Given the description of an element on the screen output the (x, y) to click on. 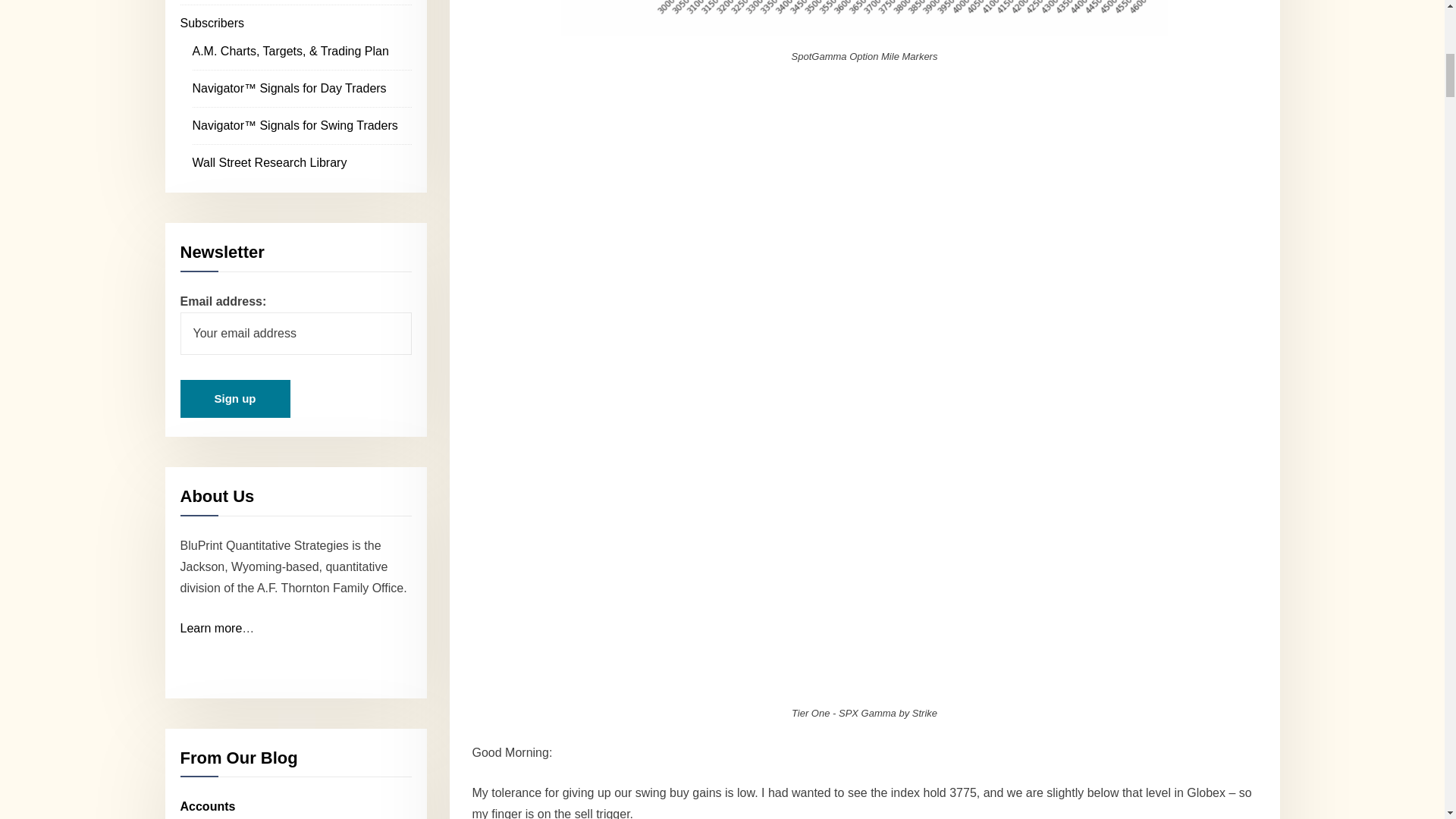
Learn more (211, 627)
Sign up (234, 398)
Wall Street Research Library (269, 162)
Accounts (207, 806)
Sign up (234, 398)
SPX Options Analysis (863, 18)
Subscribers (212, 22)
